Given the description of an element on the screen output the (x, y) to click on. 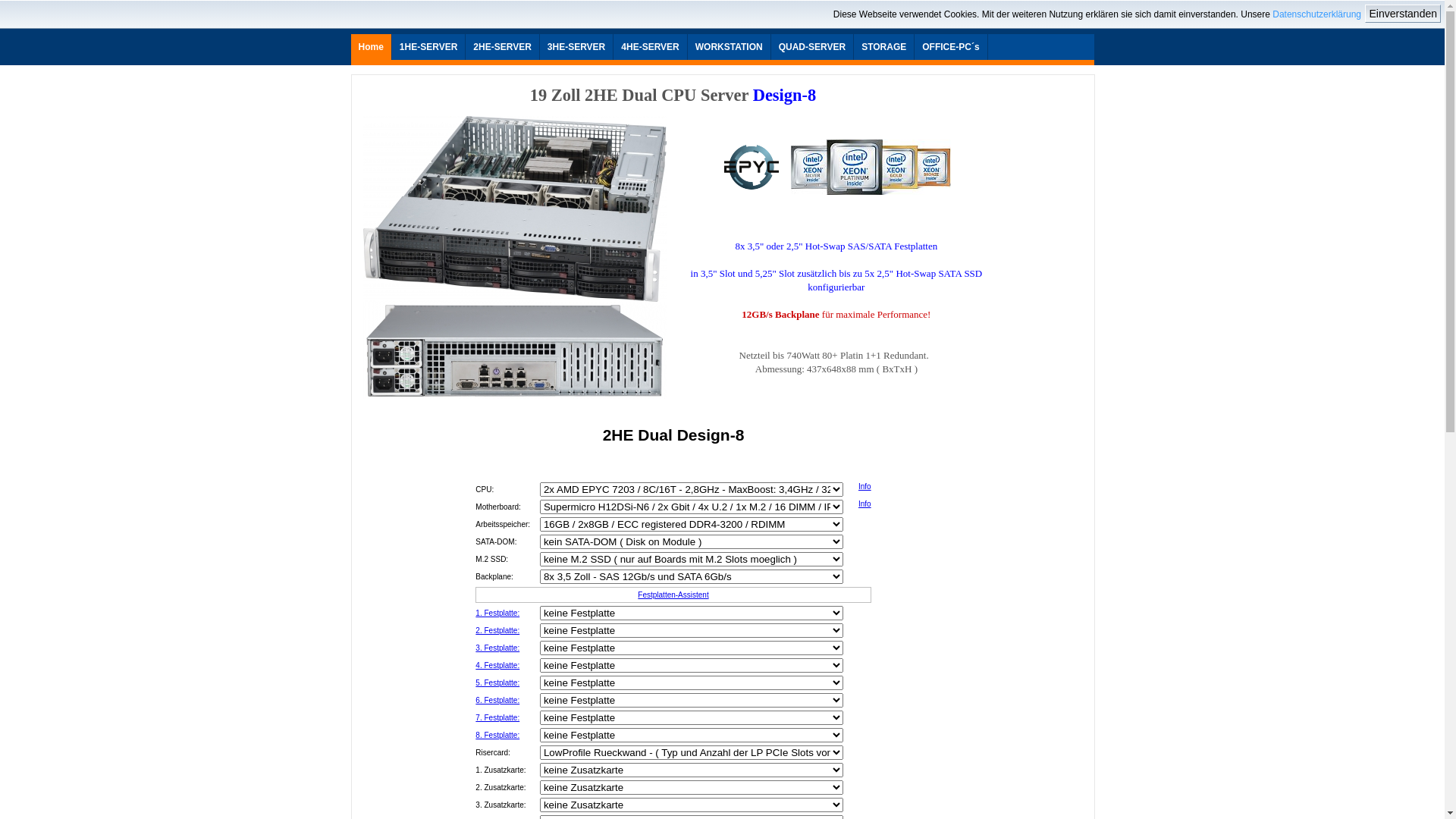
3HE-SERVER Element type: text (575, 46)
Home Element type: text (370, 46)
1HE-SERVER Element type: text (428, 46)
Einverstanden Element type: text (1402, 13)
STORAGE Element type: text (883, 46)
QUAD-SERVER Element type: text (812, 46)
4HE-SERVER Element type: text (649, 46)
2HE-SERVER Element type: text (501, 46)
WORKSTATION Element type: text (728, 46)
